Given the description of an element on the screen output the (x, y) to click on. 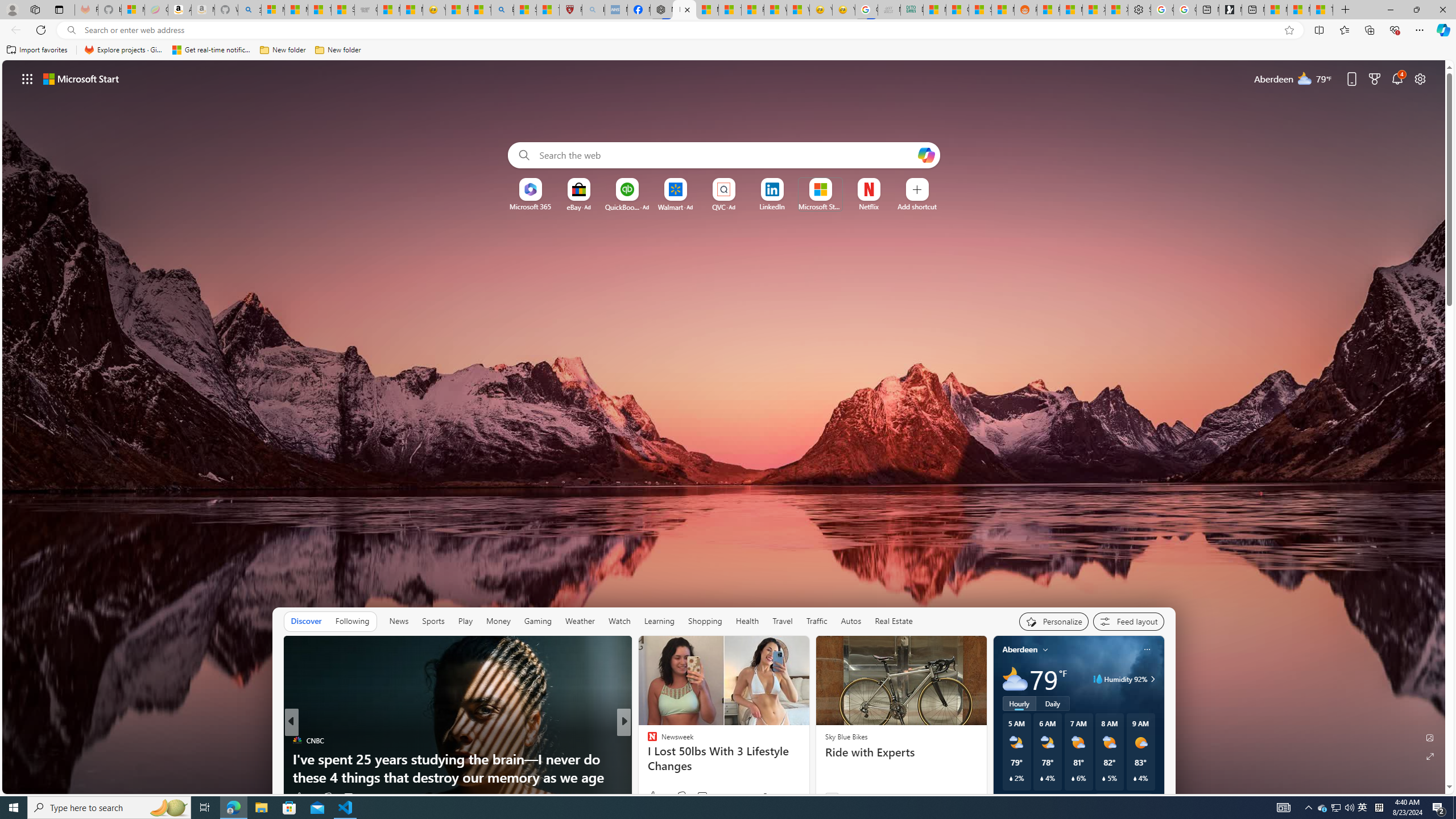
View comments 35 Comment (707, 796)
These 3 Stocks Pay You More Than 5% to Own Them (1321, 9)
Feed settings (1128, 621)
next (1158, 722)
